Given the description of an element on the screen output the (x, y) to click on. 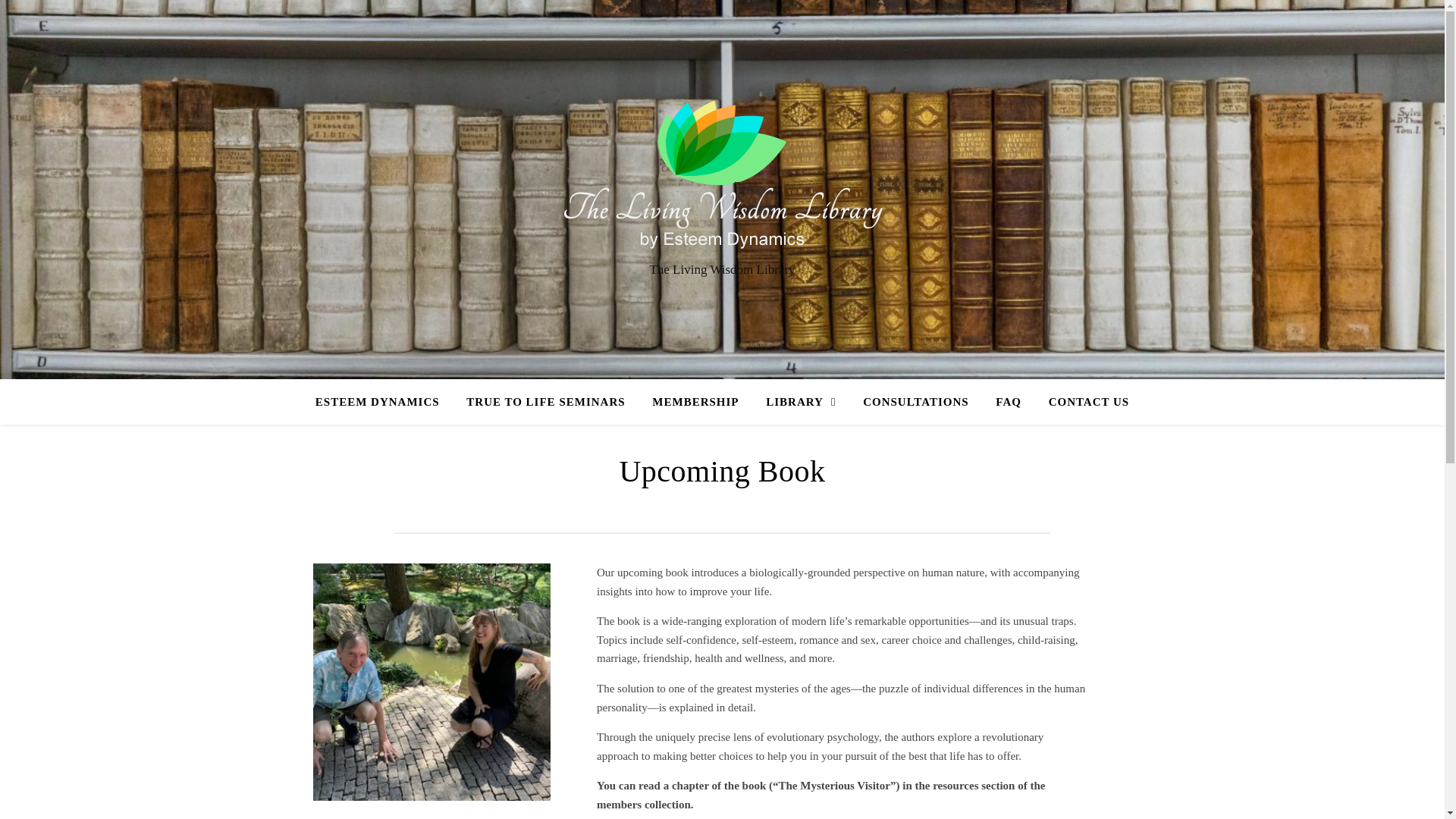
ESTEEM DYNAMICS (383, 402)
LIBRARY (800, 402)
CONTACT US (1082, 402)
TRUE TO LIFE SEMINARS (545, 402)
FAQ (1008, 402)
MEMBERSHIP (695, 402)
Esteem Dynamics (722, 175)
CONSULTATIONS (914, 402)
